Given the description of an element on the screen output the (x, y) to click on. 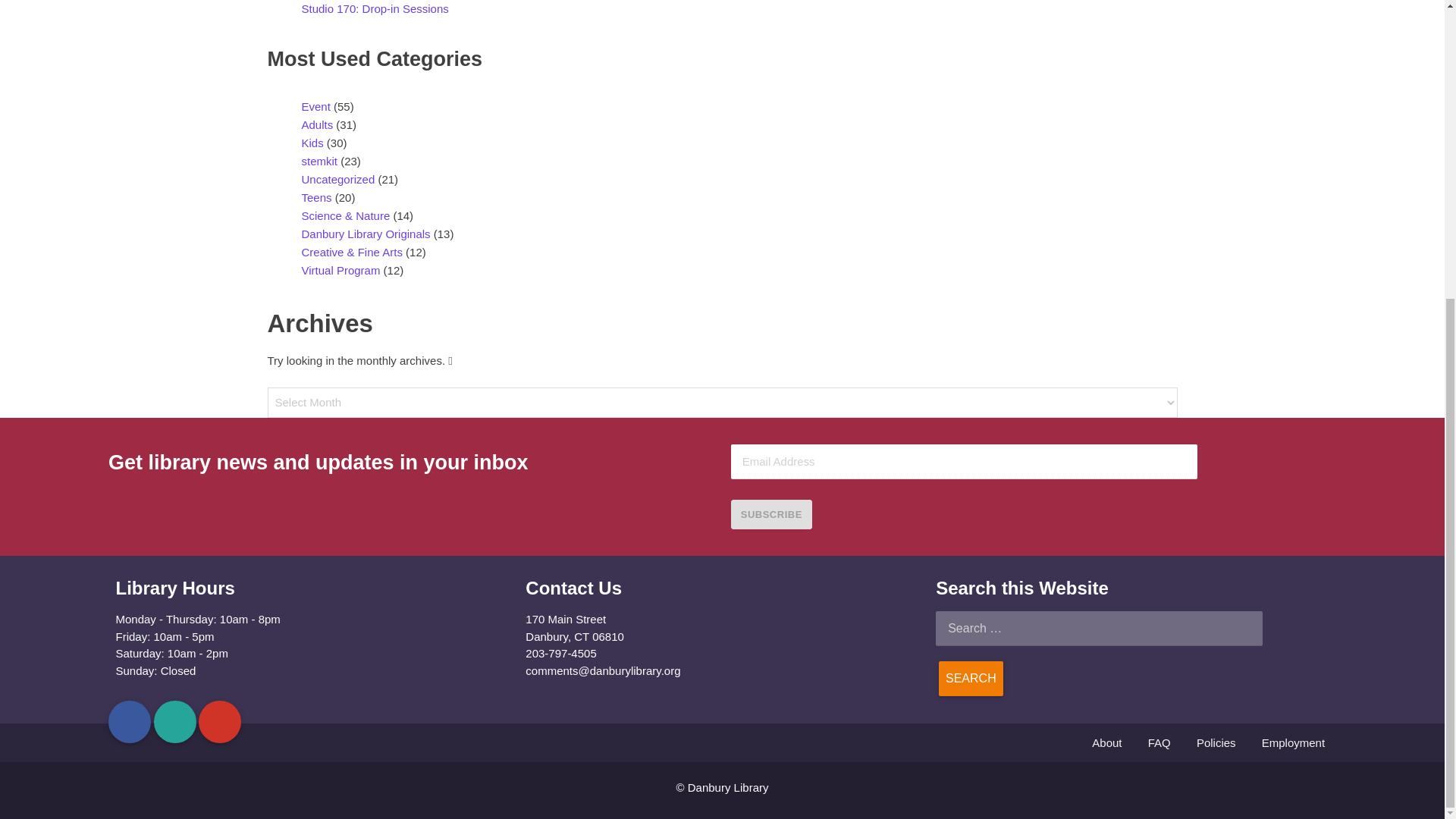
Search (971, 678)
Search (971, 678)
